Given the description of an element on the screen output the (x, y) to click on. 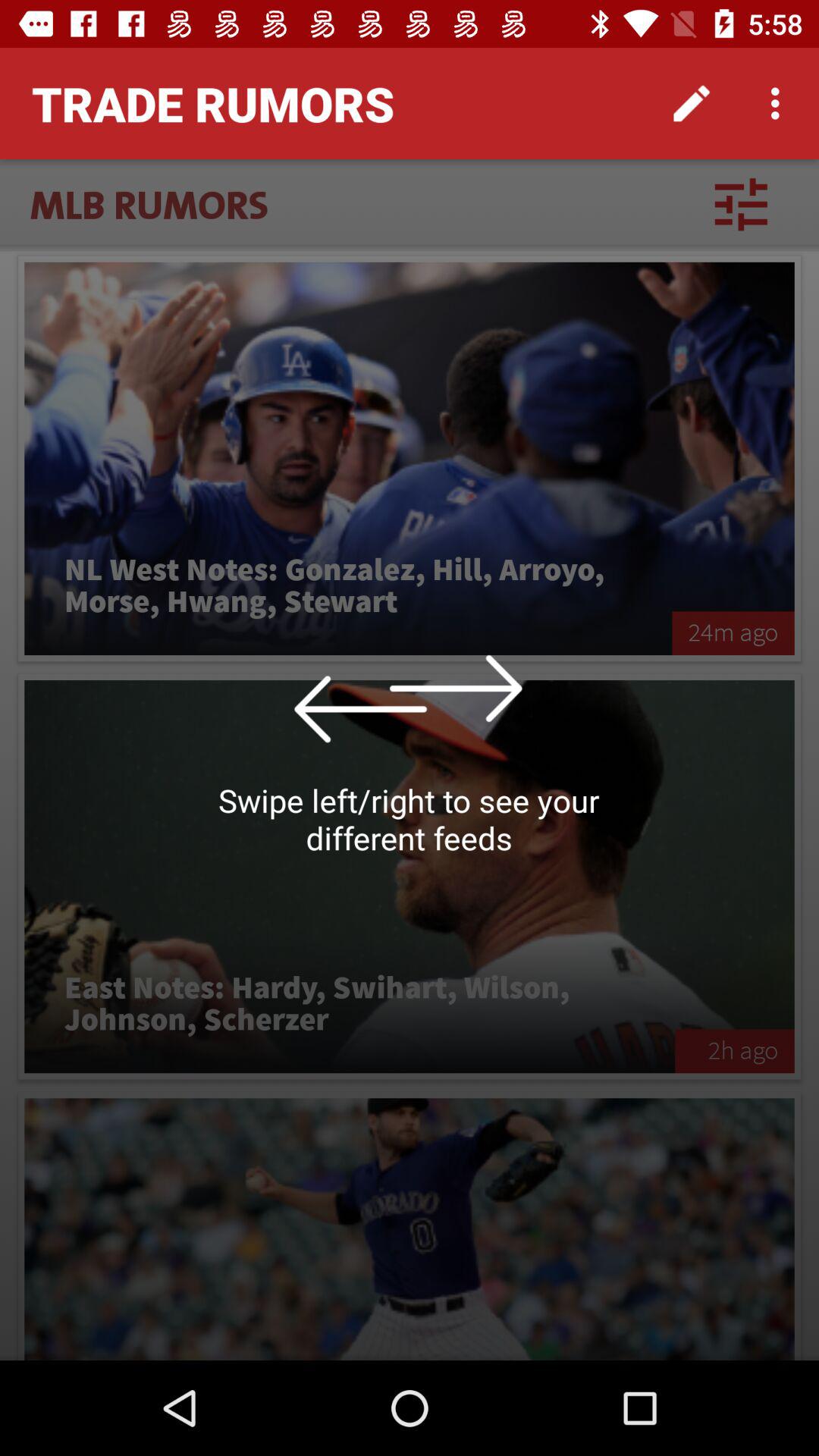
open item at the bottom right corner (734, 1051)
